Given the description of an element on the screen output the (x, y) to click on. 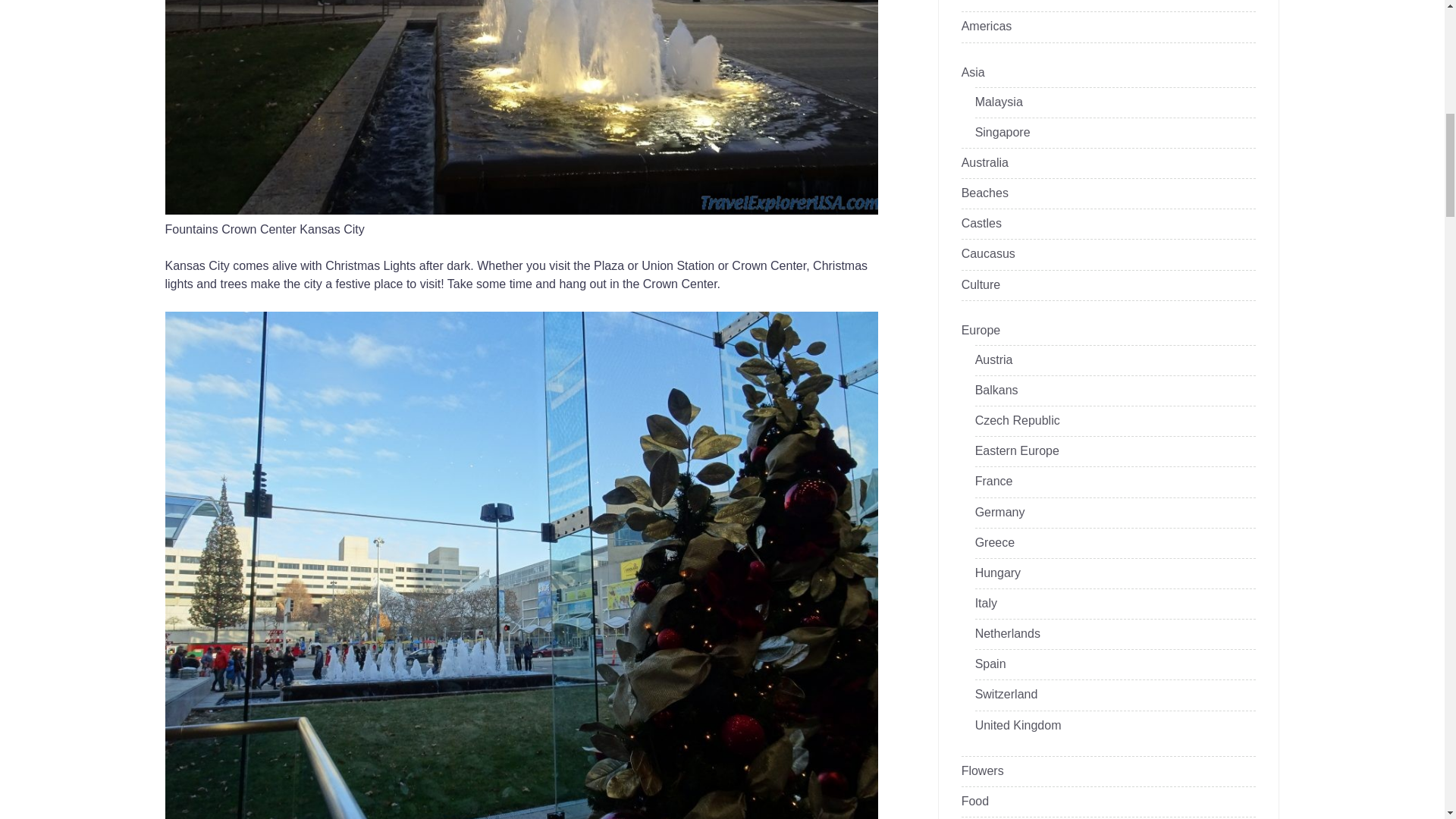
Culture (980, 285)
Asia (972, 73)
Beaches (984, 193)
Singapore (1002, 133)
Caucasus (987, 254)
Europe (980, 330)
Malaysia (999, 102)
Austria (994, 359)
Australia (984, 163)
Africa (976, 2)
Americas (985, 26)
Castles (980, 223)
